Given the description of an element on the screen output the (x, y) to click on. 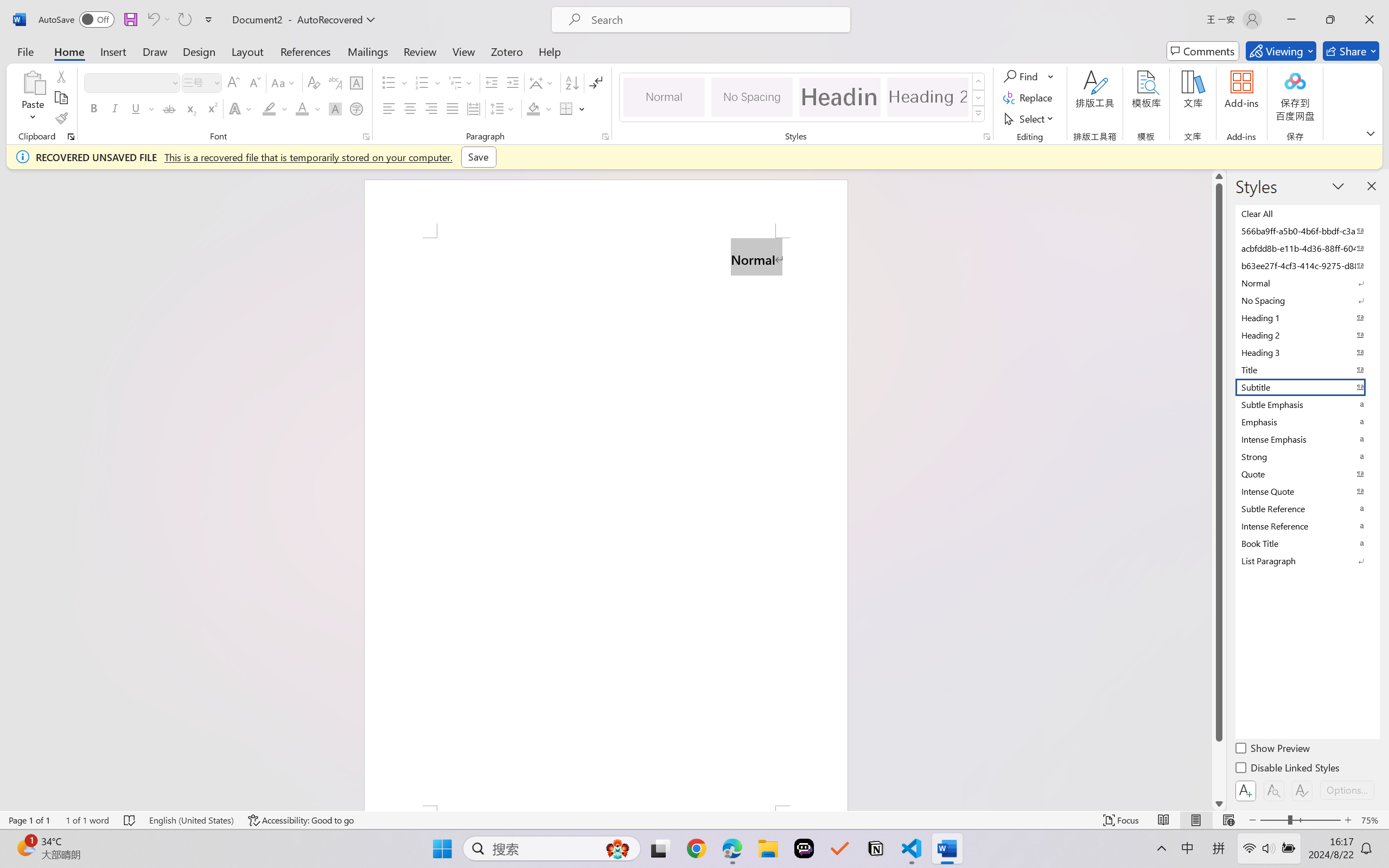
Line and Paragraph Spacing (503, 108)
Can't Undo (152, 19)
List Paragraph (1306, 560)
Distributed (473, 108)
Phonetic Guide... (334, 82)
Quote (1306, 473)
Font Color RGB(255, 0, 0) (302, 108)
Office Clipboard... (70, 136)
